Given the description of an element on the screen output the (x, y) to click on. 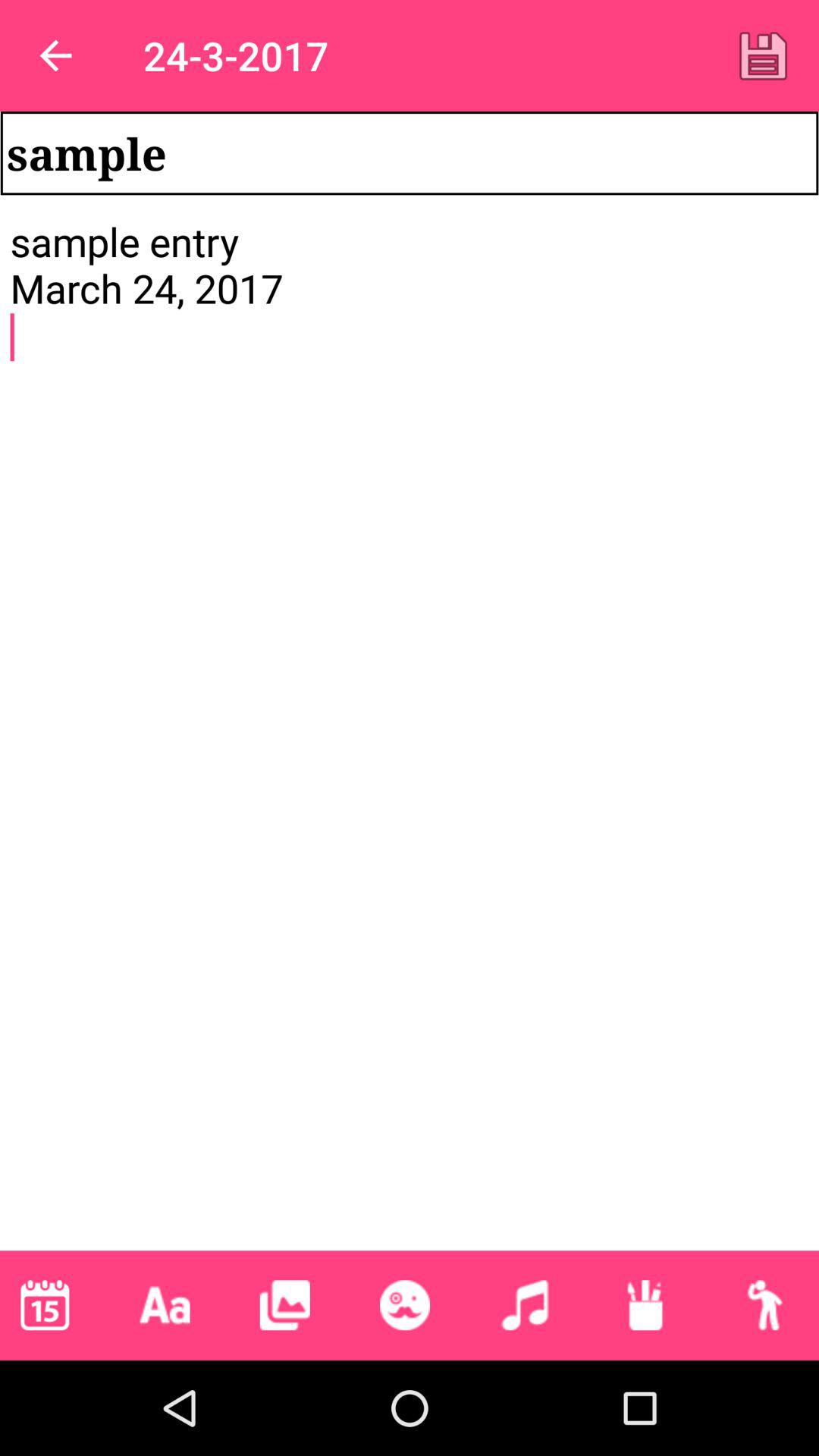
turn on the icon at the center (409, 732)
